Given the description of an element on the screen output the (x, y) to click on. 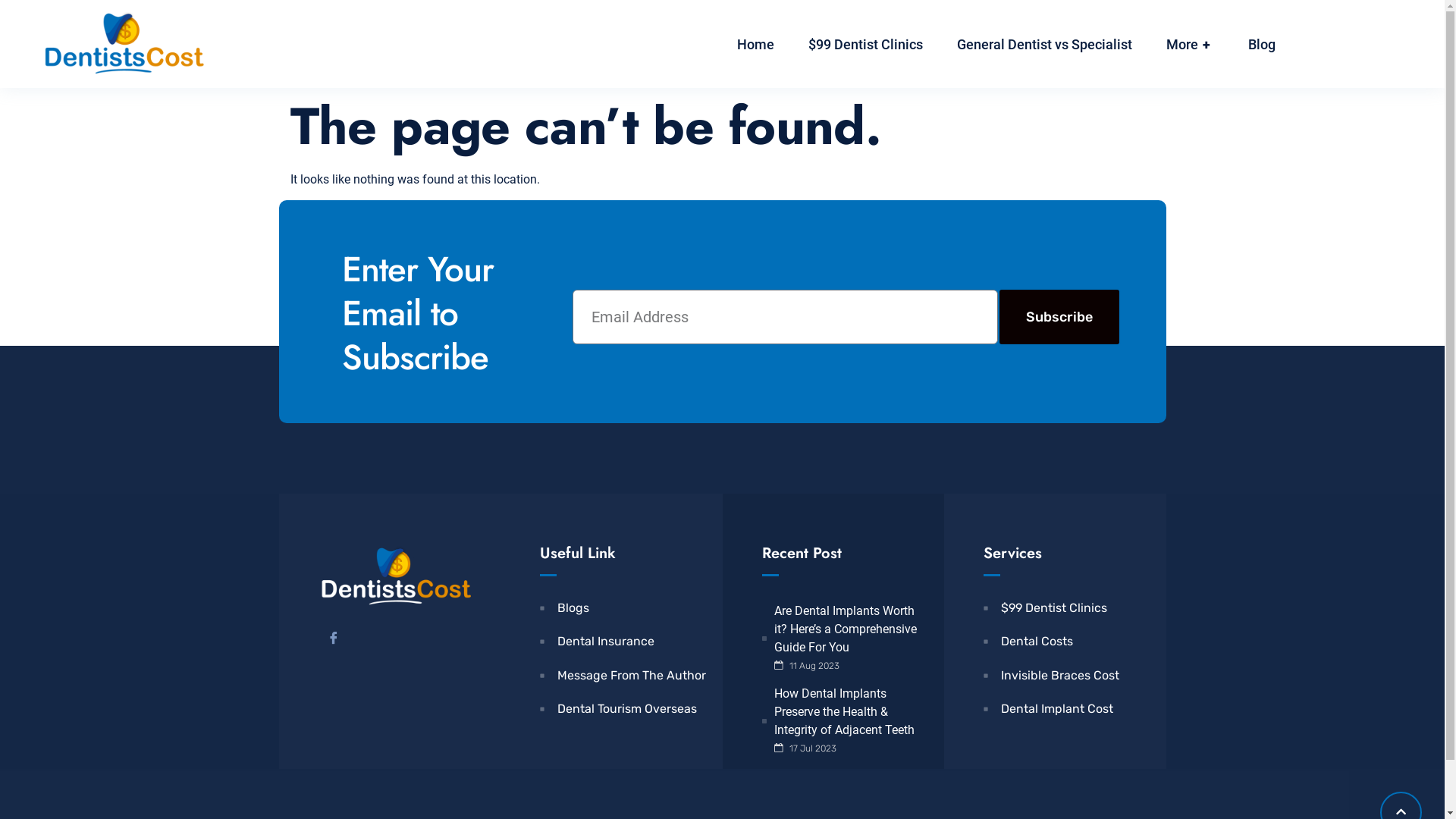
$99 Dentist Clinics Element type: text (865, 44)
Invisible Braces Cost Element type: text (1067, 675)
Dental Costs Element type: text (1067, 641)
Dental Insurance Element type: text (623, 641)
Home Element type: text (755, 44)
Dental Implant Cost Element type: text (1067, 708)
Dental Tourism Overseas Element type: text (623, 708)
General Dentist vs Specialist Element type: text (1044, 44)
More
+ Element type: text (1190, 44)
$99 Dentist Clinics Element type: text (1067, 607)
Blogs Element type: text (623, 607)
Blog Element type: text (1261, 44)
Subscribe Element type: text (1058, 316)
Message From The Author Element type: text (623, 675)
